Given the description of an element on the screen output the (x, y) to click on. 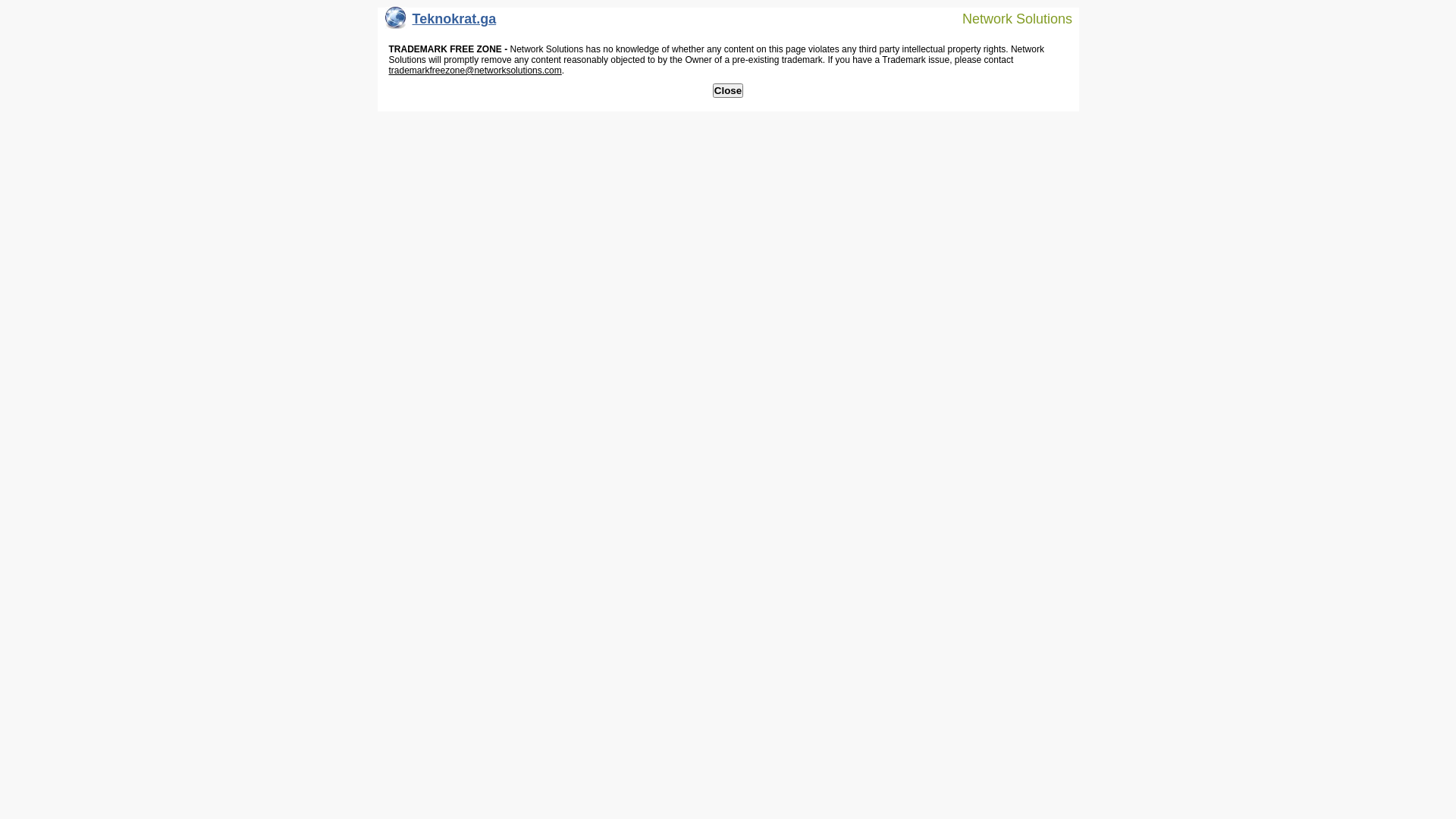
trademarkfreezone@networksolutions.com Element type: text (474, 70)
Teknokrat.ga Element type: text (440, 21)
Network Solutions Element type: text (1007, 17)
Close Element type: text (727, 90)
